Given the description of an element on the screen output the (x, y) to click on. 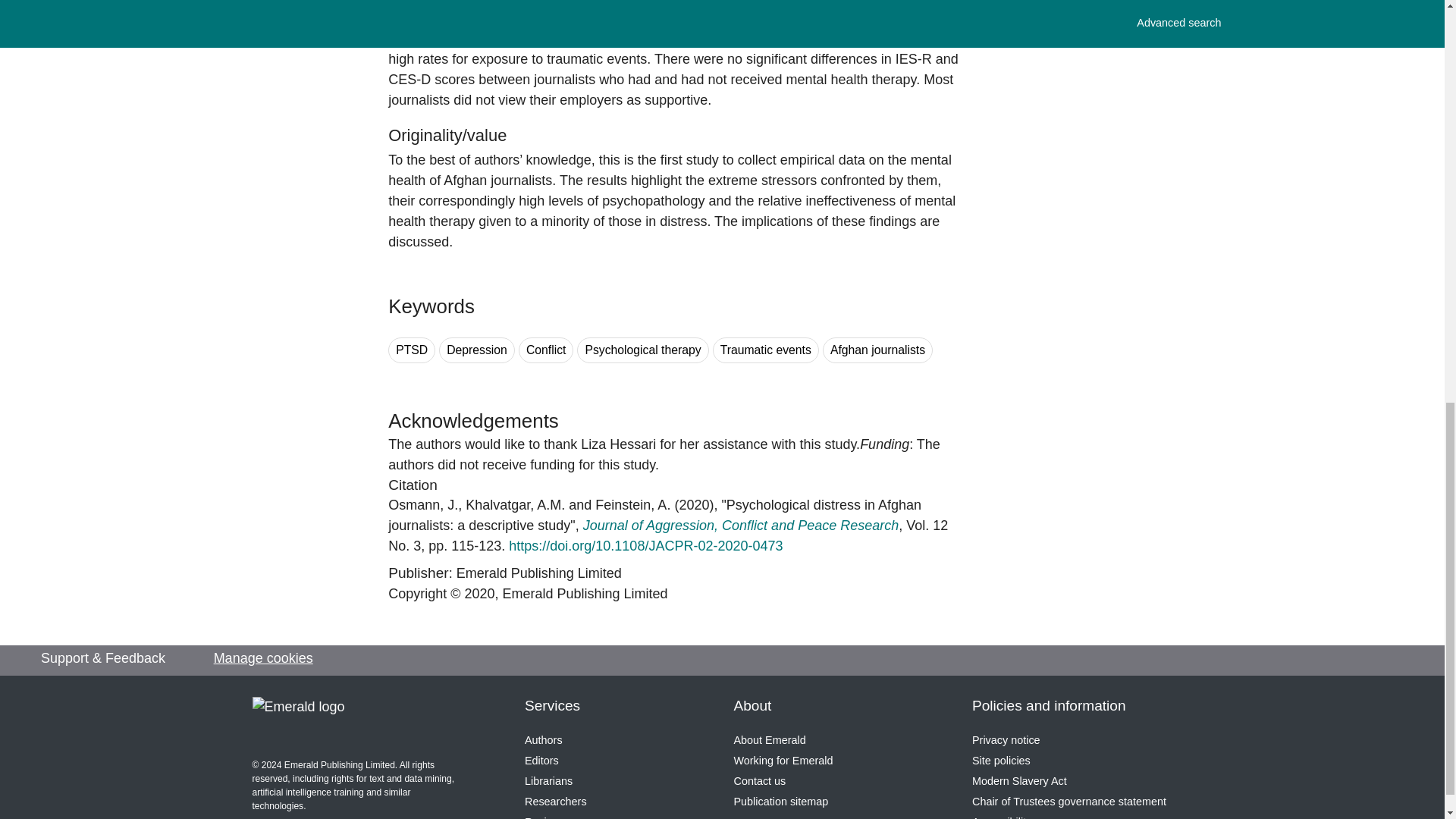
Editors (541, 760)
Journal of Aggression, Conflict and Peace Research (741, 525)
PTSD (411, 350)
Traumatic events (765, 350)
Feinstein, A. (632, 504)
Search for keyword Psychological therapy (641, 350)
Jonas Osmann (423, 504)
Search for keyword PTSD (411, 350)
Manage cookies (263, 658)
Osmann, J. (423, 504)
